Given the description of an element on the screen output the (x, y) to click on. 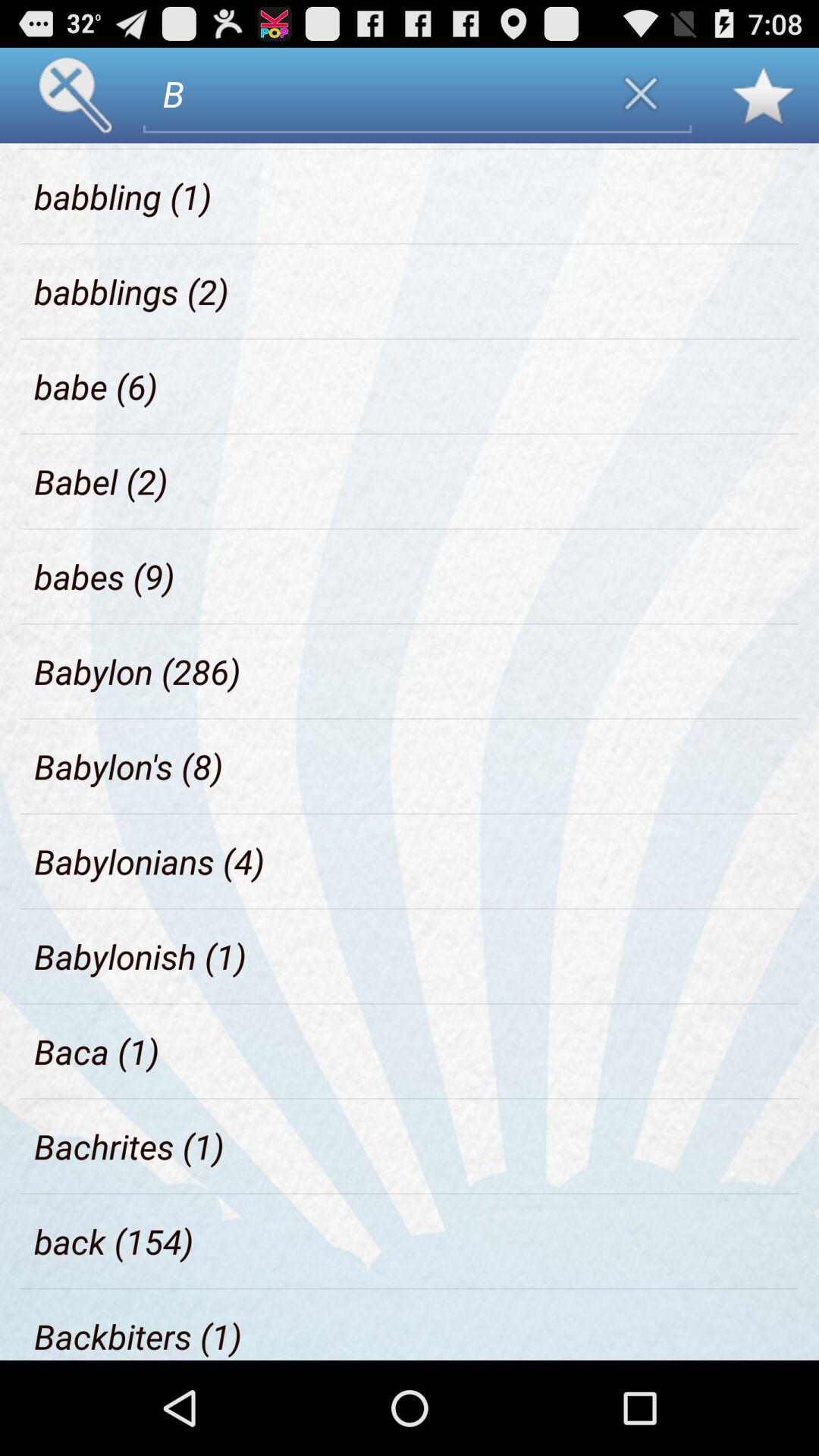
select the icon below babbling (1) item (131, 291)
